Given the description of an element on the screen output the (x, y) to click on. 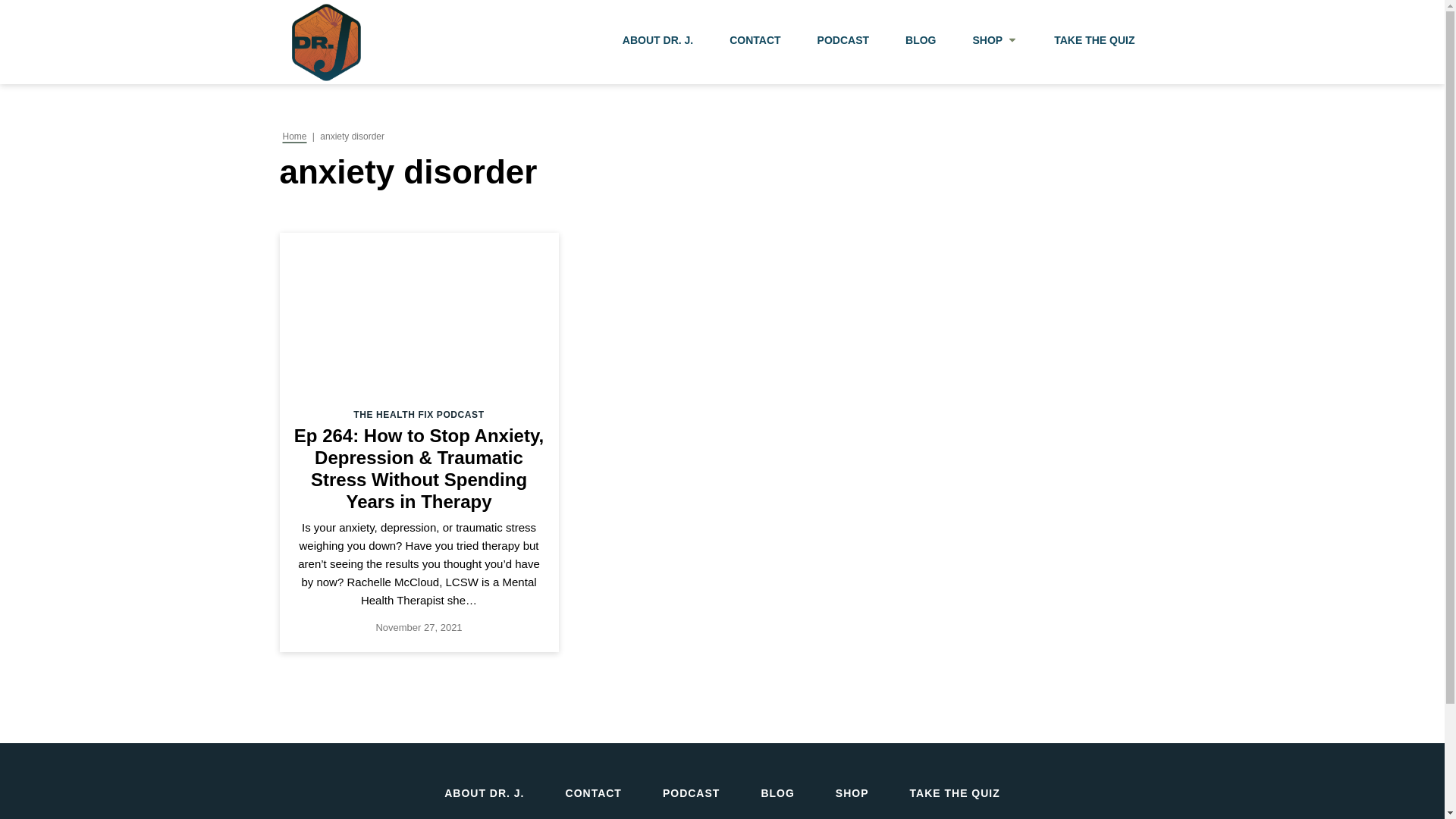
CONTACT (754, 42)
THE HEALTH FIX PODCAST (418, 414)
PODCAST (690, 792)
ABOUT DR. J. (657, 42)
ABOUT DR. J. (484, 792)
PODCAST (842, 42)
Dr. Jannine Krause (325, 42)
CONTACT (593, 792)
TAKE THE QUIZ (954, 792)
SHOP (852, 792)
BLOG (776, 792)
Home (293, 136)
TAKE THE QUIZ (1094, 42)
